Given the description of an element on the screen output the (x, y) to click on. 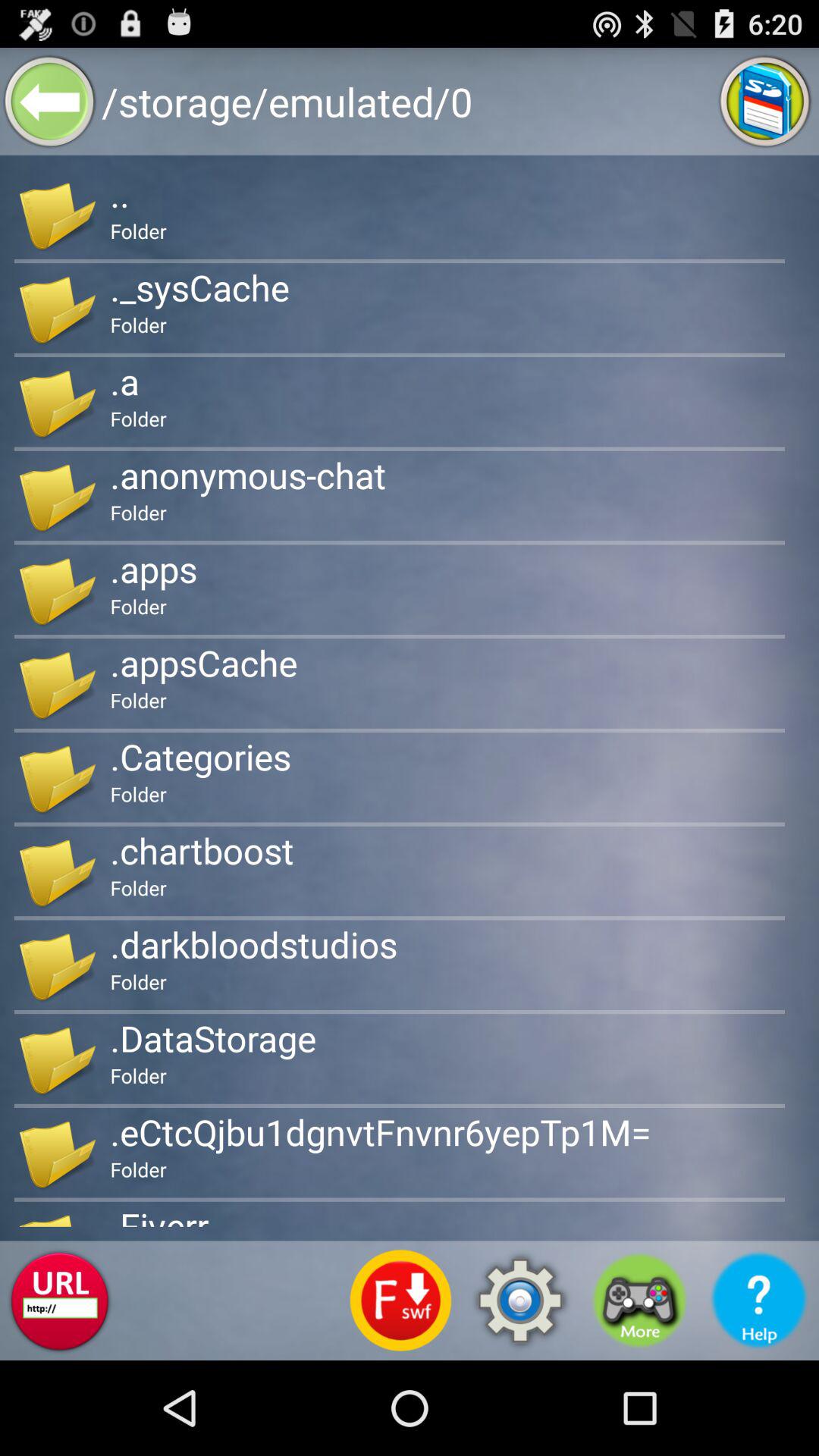
press icon to the left of the /storage/emulated/0 item (49, 101)
